Given the description of an element on the screen output the (x, y) to click on. 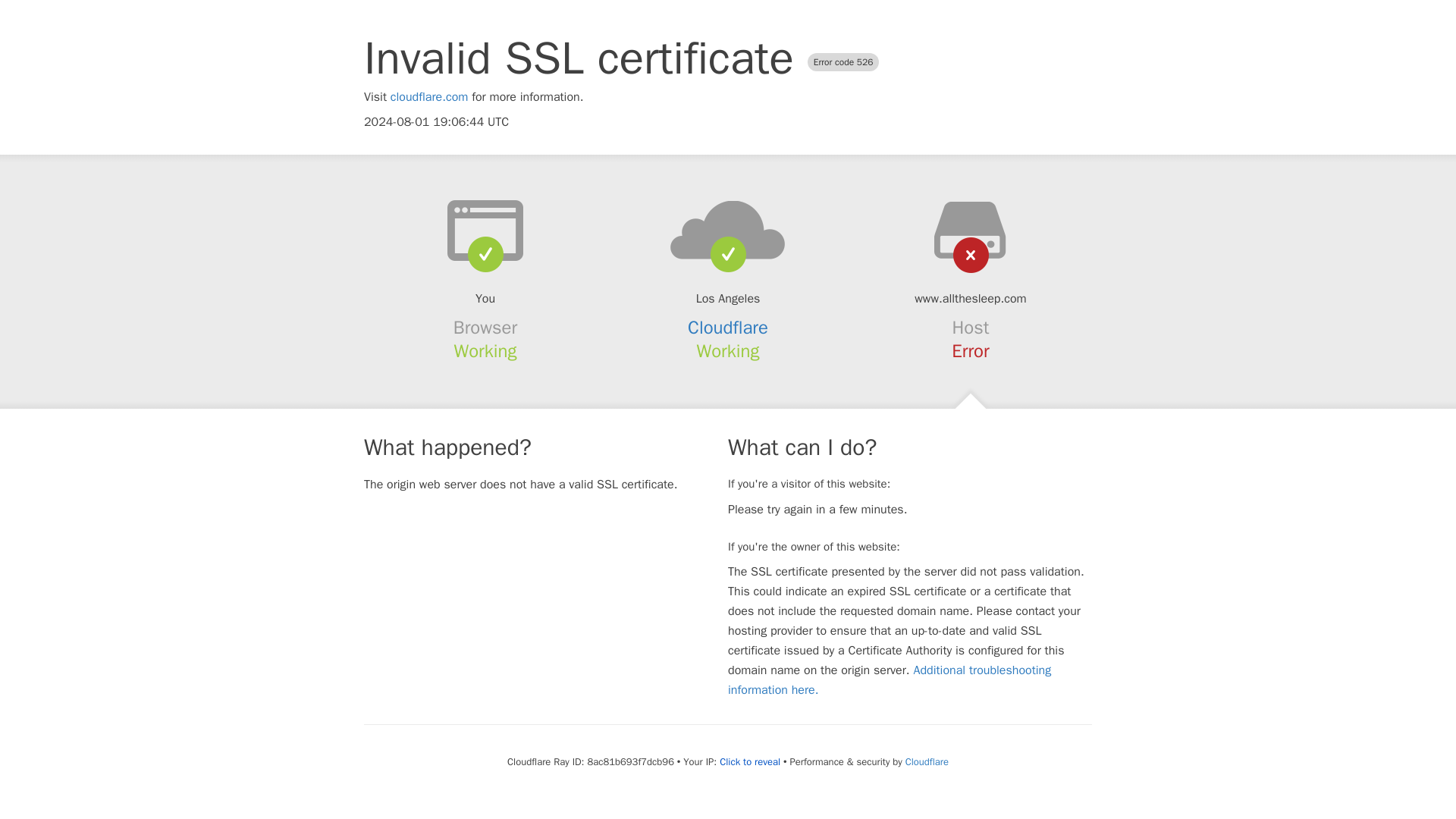
Cloudflare (727, 327)
Additional troubleshooting information here. (889, 679)
Click to reveal (749, 762)
Cloudflare (927, 761)
cloudflare.com (429, 96)
